Given the description of an element on the screen output the (x, y) to click on. 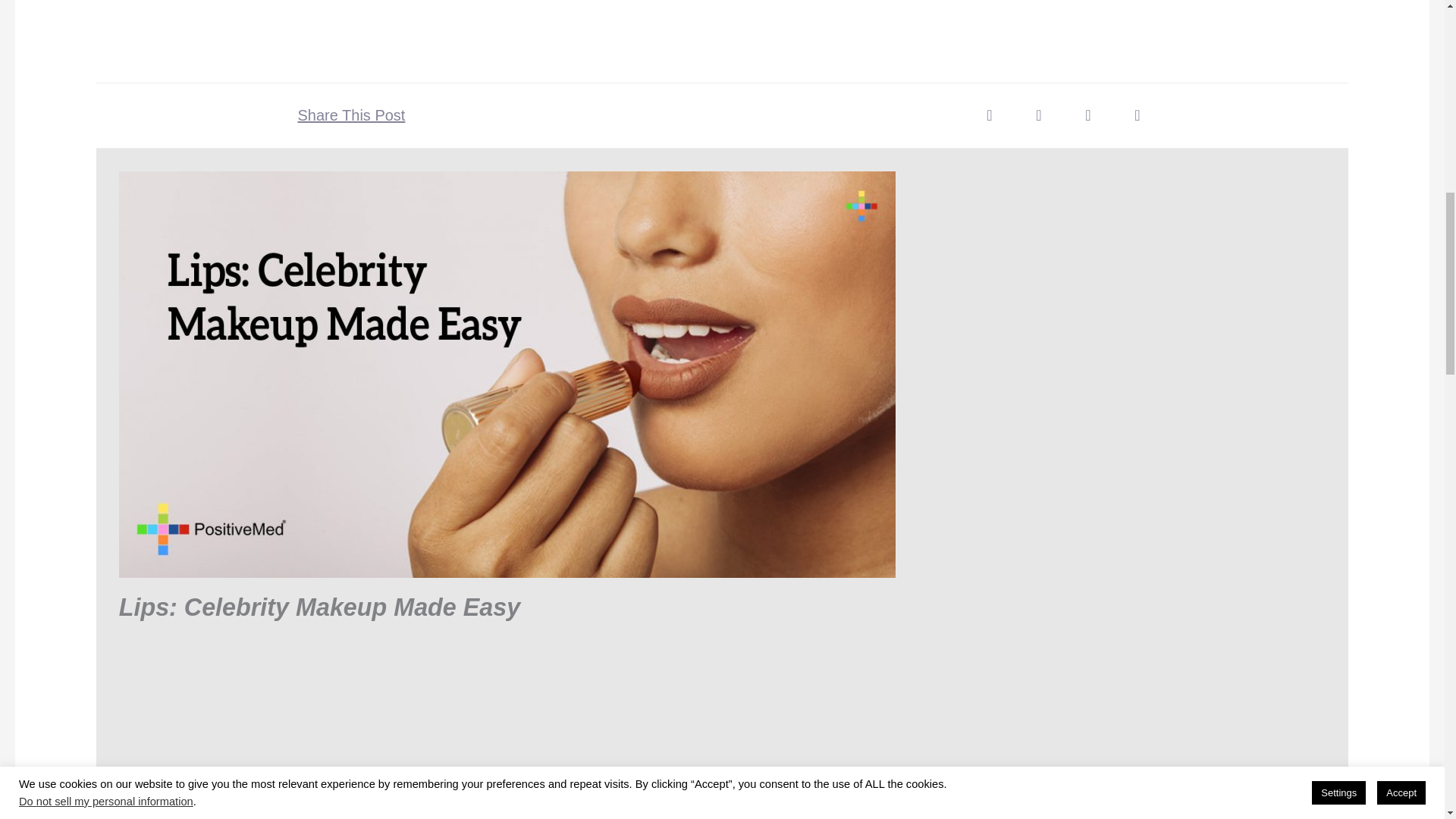
Advertisement (588, 18)
